Given the description of an element on the screen output the (x, y) to click on. 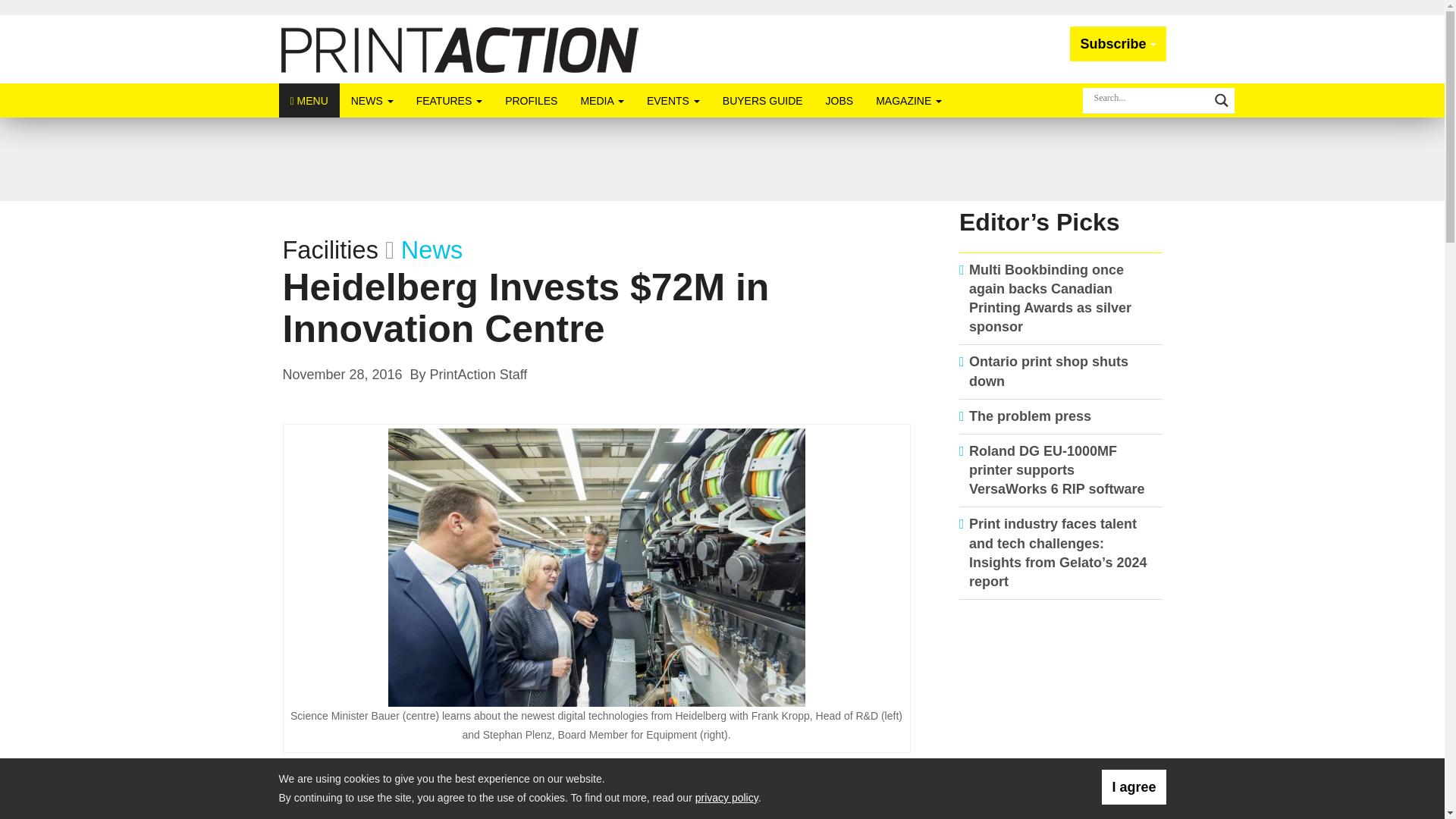
NEWS (371, 100)
Subscribe (1118, 43)
3rd party ad content (721, 159)
EVENTS (672, 100)
Click to show site navigation (309, 100)
PrintAction (459, 48)
3rd party ad content (1060, 709)
FEATURES (449, 100)
MENU (309, 100)
JOBS (838, 100)
PROFILES (531, 100)
BUYERS GUIDE (762, 100)
MAGAZINE (908, 100)
MEDIA (601, 100)
